Given the description of an element on the screen output the (x, y) to click on. 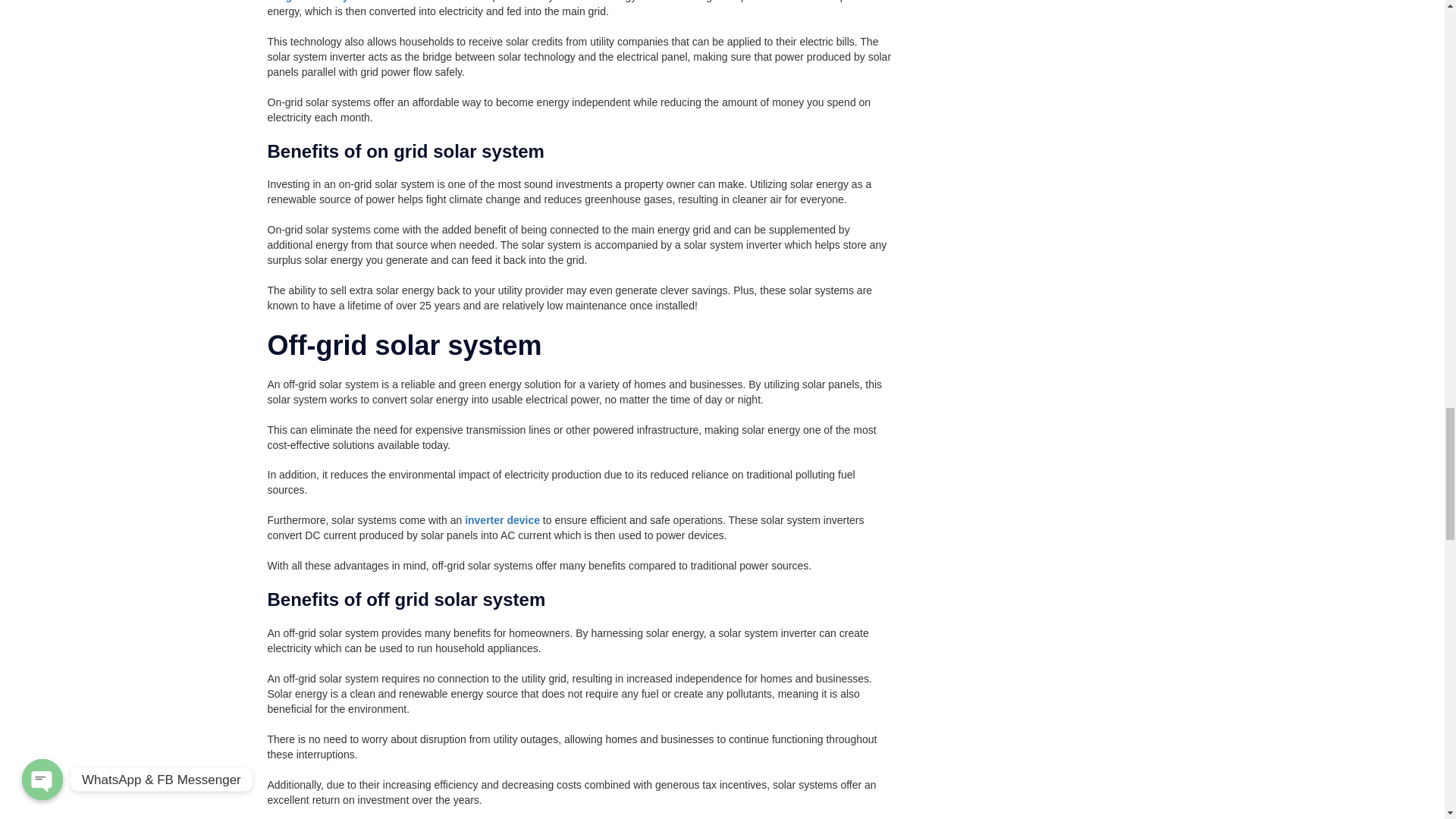
inverter device (502, 520)
On-grid solar systems (322, 1)
